Given the description of an element on the screen output the (x, y) to click on. 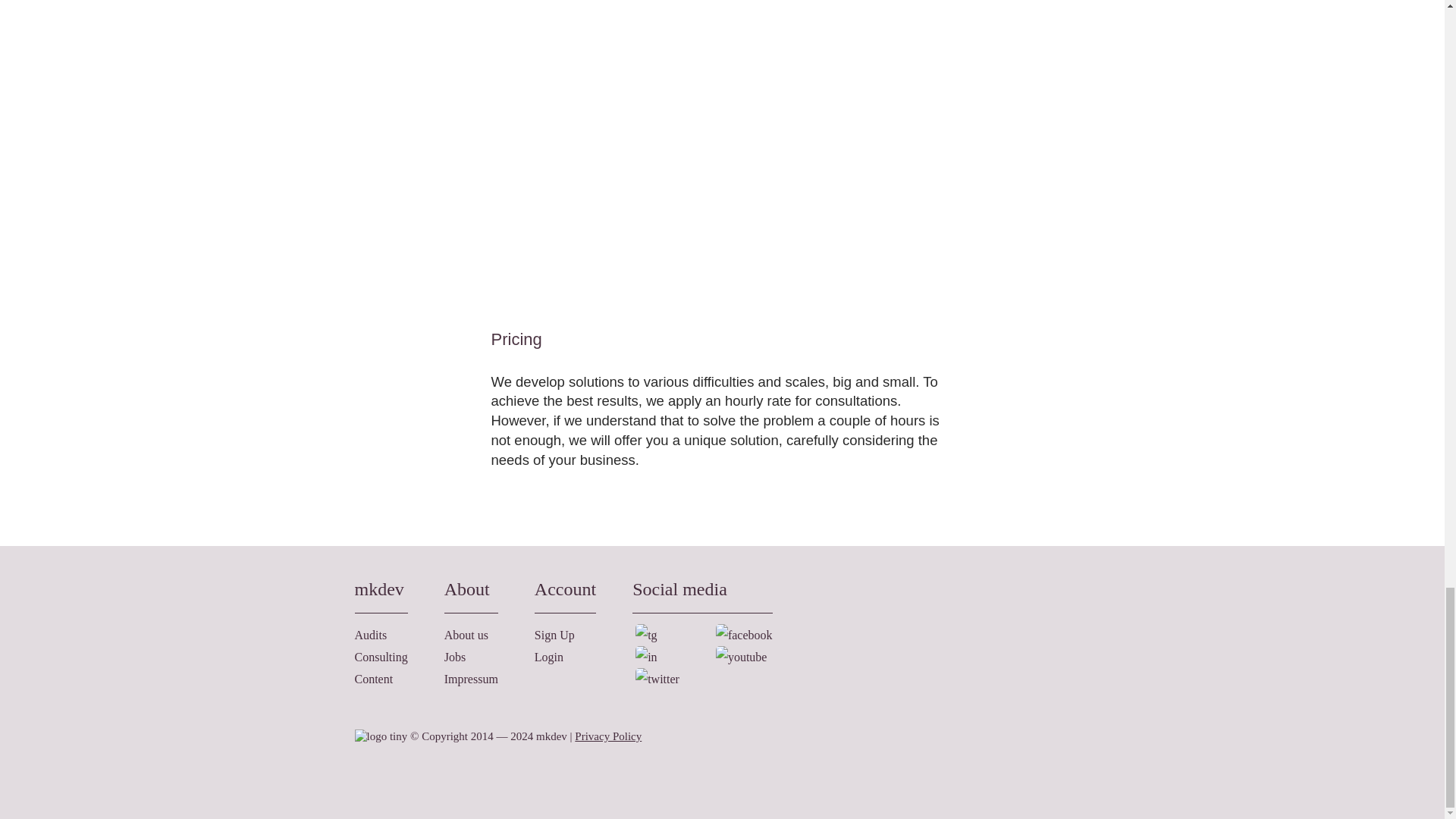
Jobs (454, 656)
Audits (371, 634)
Impressum (470, 678)
Consulting (381, 656)
Login (548, 656)
Privacy Policy (608, 736)
Sign Up (554, 634)
About us (465, 634)
Content (374, 678)
